Given the description of an element on the screen output the (x, y) to click on. 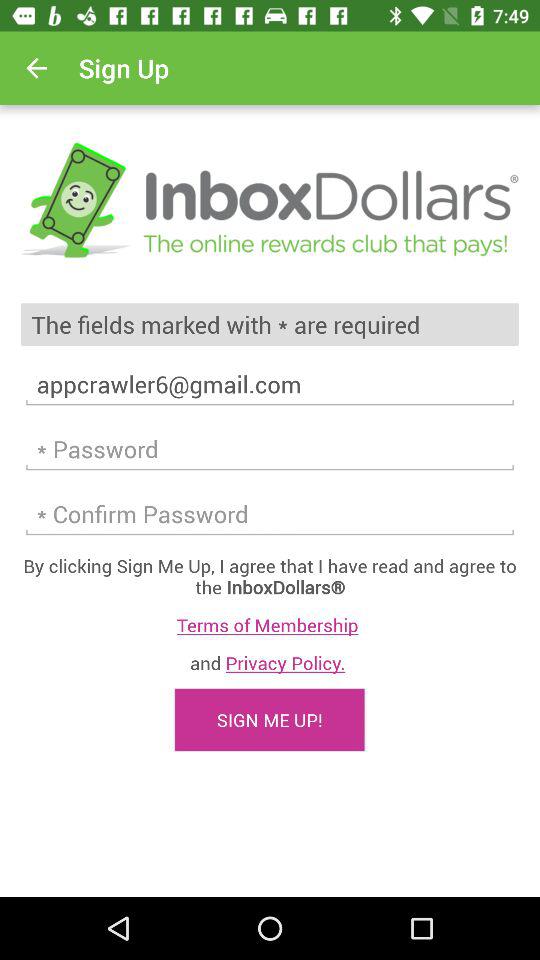
click icon to the left of the sign up item (36, 68)
